Given the description of an element on the screen output the (x, y) to click on. 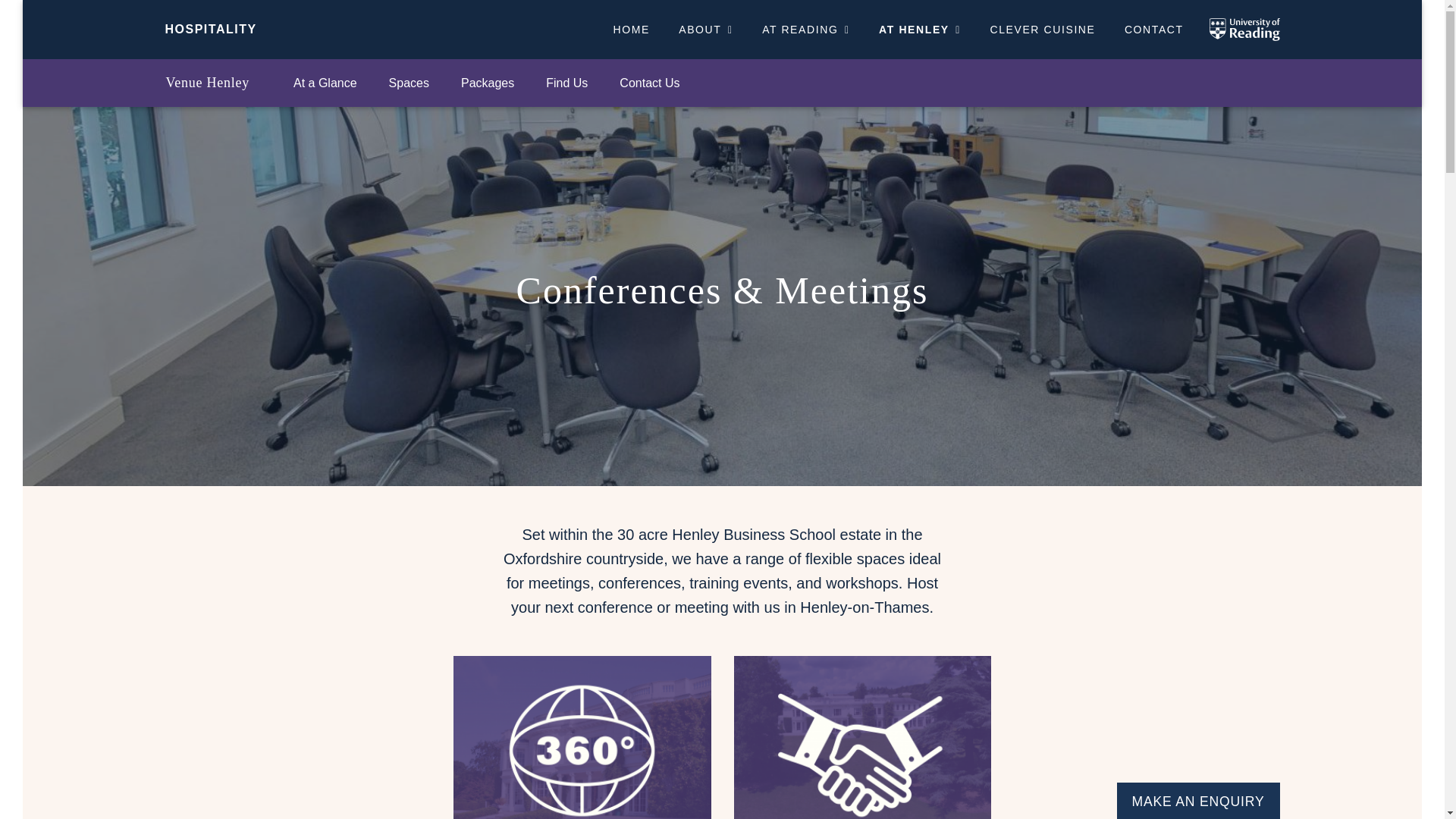
Home (630, 29)
Packages (487, 82)
CONTACT (1153, 29)
About (705, 29)
Spaces (408, 82)
AT HENLEY (919, 29)
Hospitality (211, 29)
At a Glance (325, 82)
At Reading (806, 29)
HOME (630, 29)
